Given the description of an element on the screen output the (x, y) to click on. 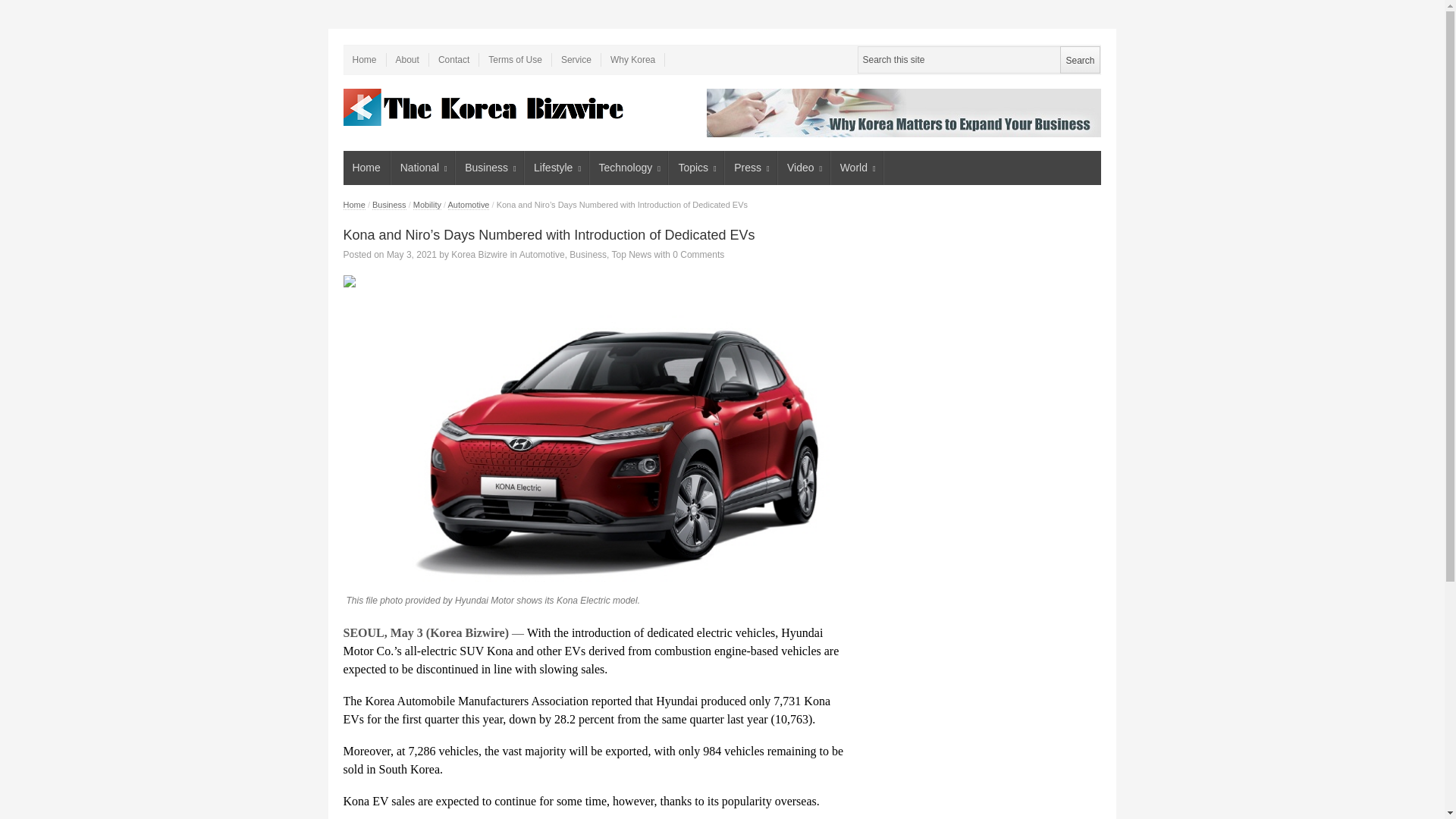
Be Korea-savvy (484, 107)
Home (366, 167)
View all posts by Korea Bizwire (478, 254)
Contact (454, 59)
Search (1079, 59)
Home (363, 59)
Why Korea (633, 59)
Terms of Use (515, 59)
Service (576, 59)
View all posts in Mobility (427, 204)
7:58 am (411, 254)
National (422, 167)
View all posts in Business (588, 254)
View all posts in Business (389, 204)
Business (489, 167)
